Given the description of an element on the screen output the (x, y) to click on. 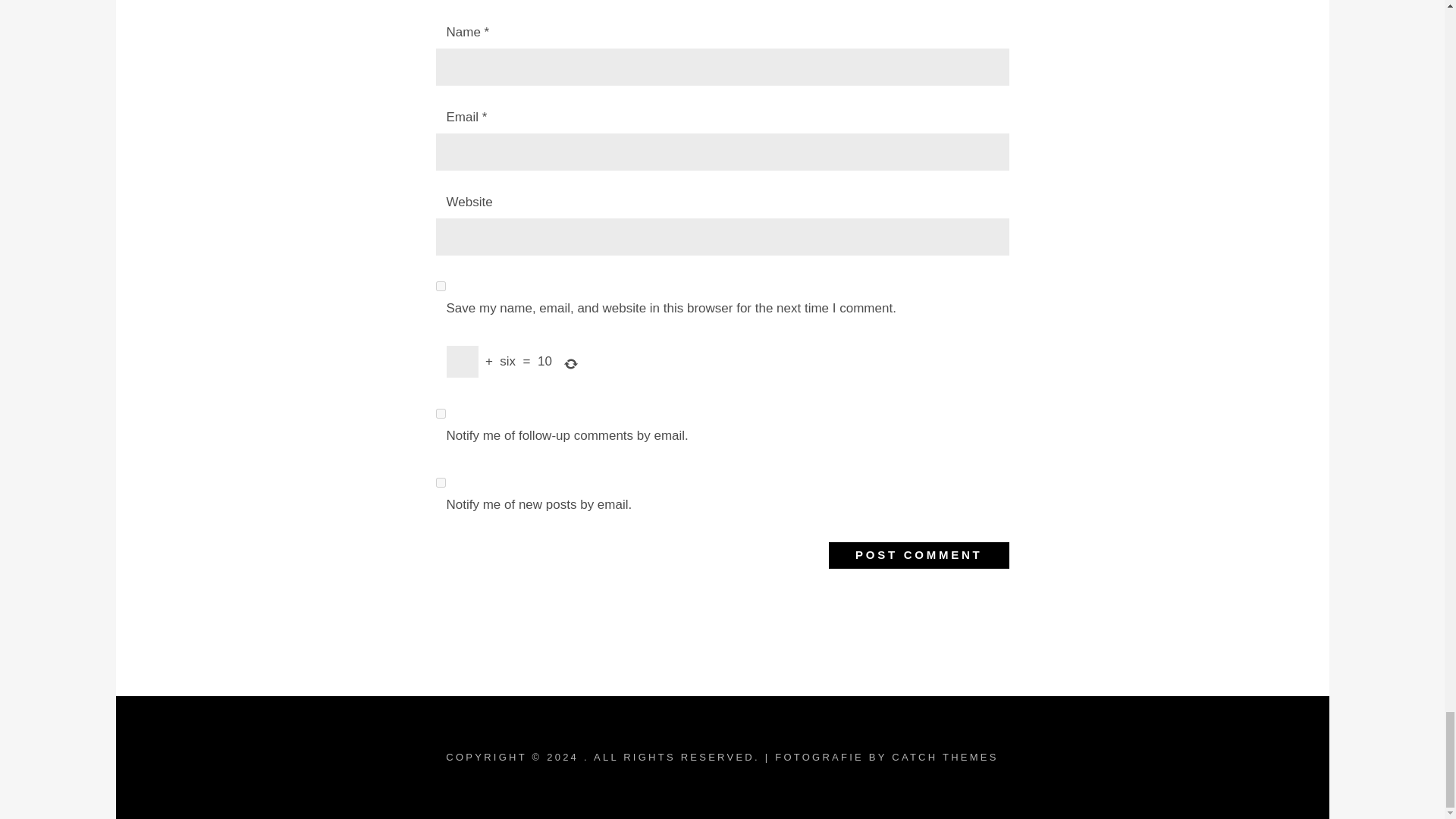
yes (440, 286)
subscribe (440, 413)
Post Comment (918, 555)
subscribe (440, 482)
